Given the description of an element on the screen output the (x, y) to click on. 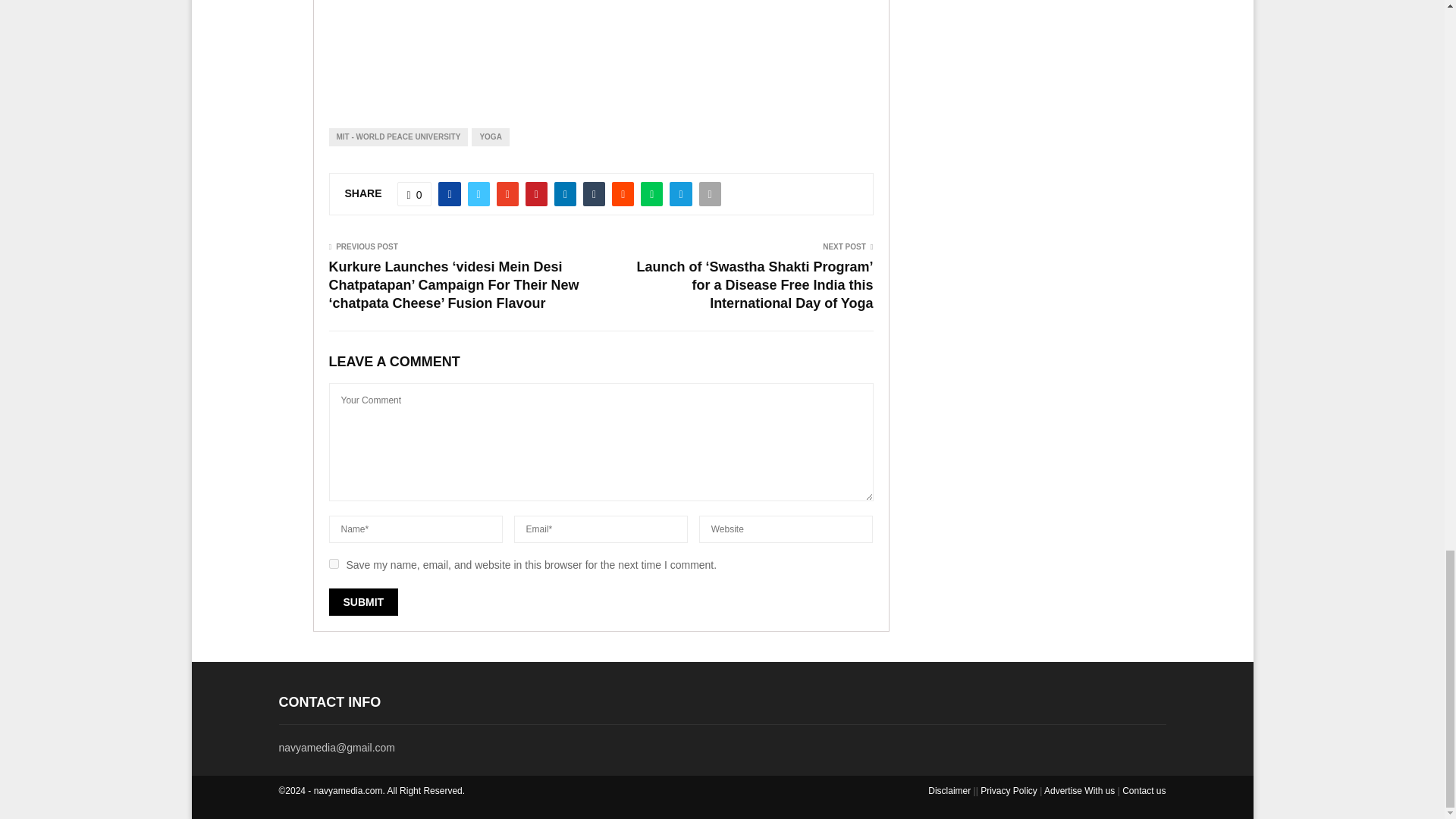
yes (334, 563)
0 (414, 193)
MIT - WORLD PEACE UNIVERSITY (398, 136)
Like (414, 193)
YOGA (489, 136)
Submit (363, 601)
